Given the description of an element on the screen output the (x, y) to click on. 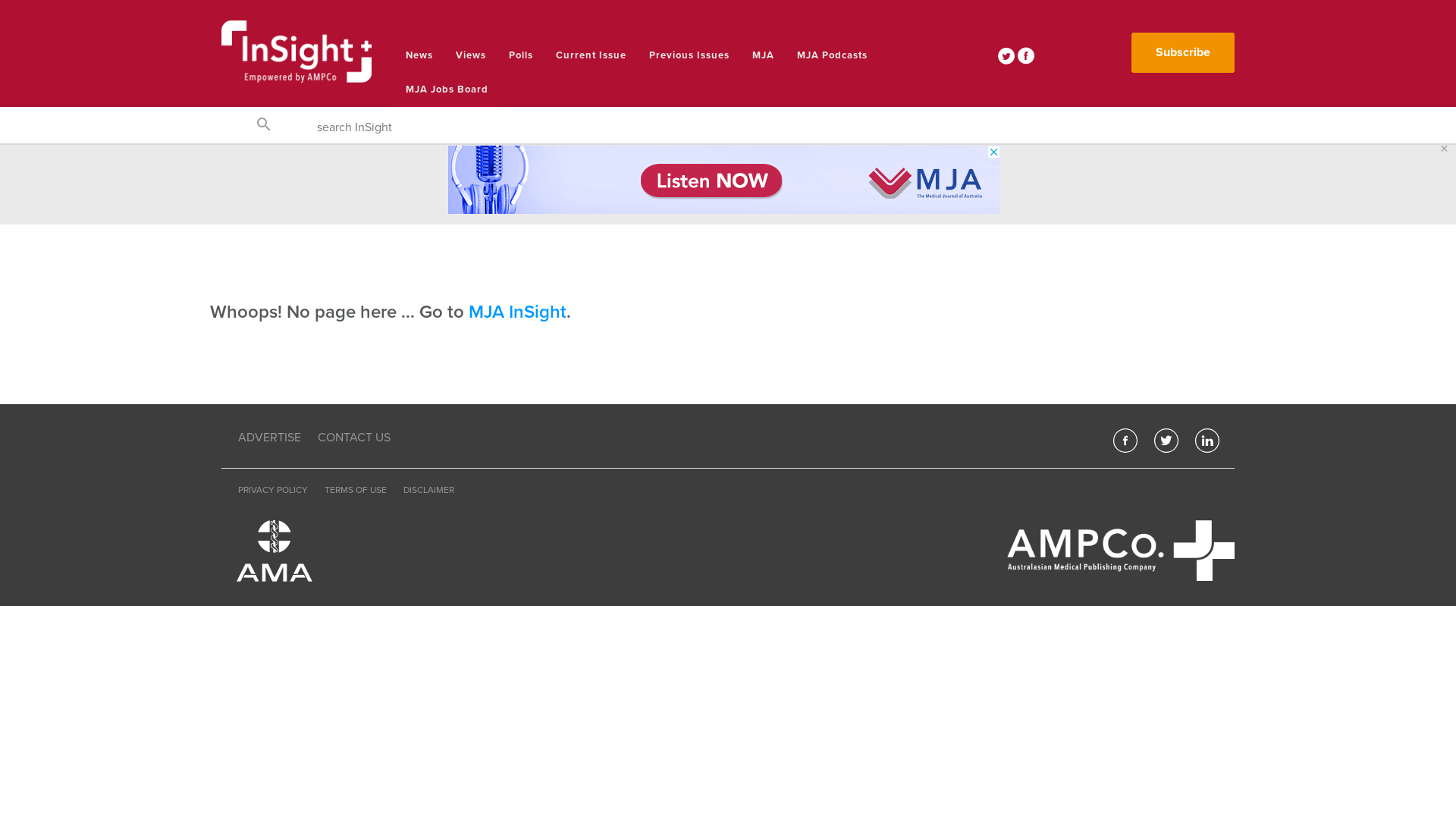
Current Issue Element type: text (590, 55)
Views Element type: text (470, 55)
News Element type: text (419, 55)
ADVERTISE Element type: text (269, 438)
MJA Jobs Board Element type: text (446, 89)
search Element type: text (263, 129)
3rd party ad content Element type: hover (724, 179)
Subscribe Element type: text (1182, 52)
Polls Element type: text (520, 55)
PRIVACY POLICY Element type: text (272, 490)
TERMS OF USE Element type: text (355, 490)
MJA Element type: text (762, 55)
CONTACT US Element type: text (353, 438)
Previous Issues Element type: text (688, 55)
DISCLAIMER Element type: text (428, 490)
MJA InSight Element type: text (517, 312)
MJA Podcasts Element type: text (831, 55)
